Given the description of an element on the screen output the (x, y) to click on. 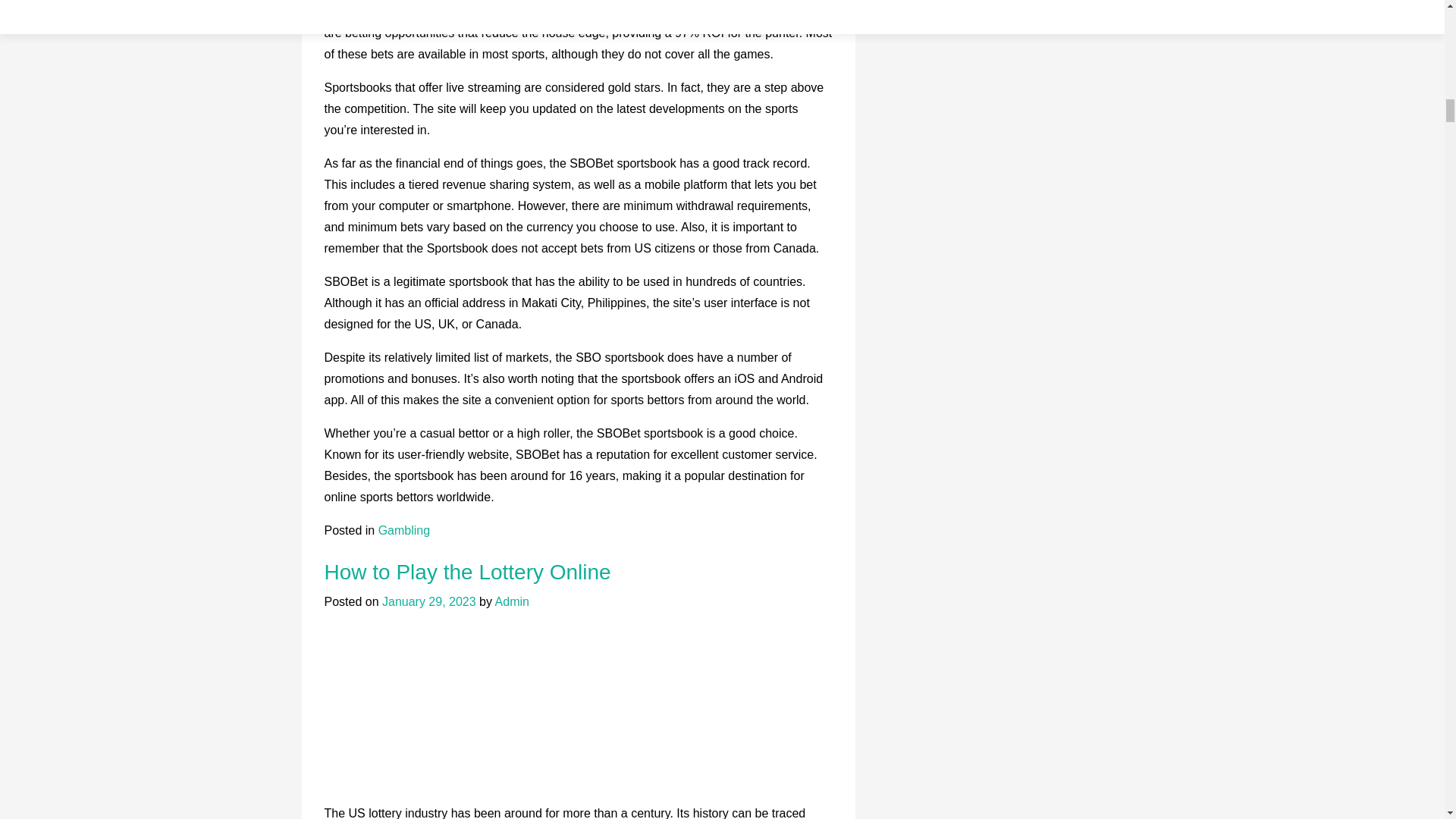
Admin (512, 601)
January 29, 2023 (428, 601)
Gambling (403, 530)
How to Play the Lottery Online (467, 571)
